Given the description of an element on the screen output the (x, y) to click on. 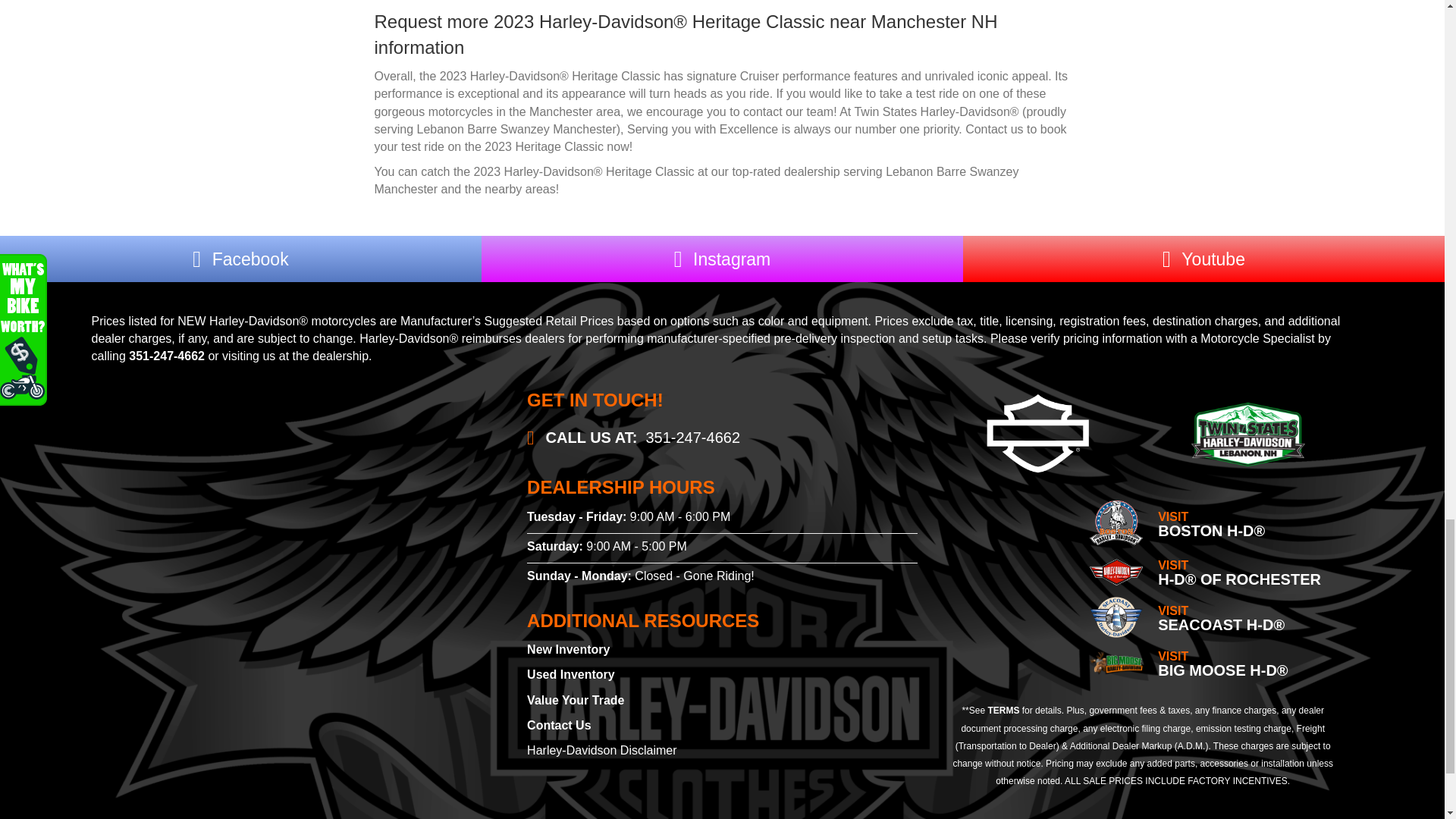
Logo (1115, 617)
Twin States Harley-Davidson (286, 544)
RochesterHD-logo-header (1115, 571)
BostonHD-logo-header (1115, 522)
logo-header-hd (1247, 434)
BigMoose-logo-header (1115, 662)
